Given the description of an element on the screen output the (x, y) to click on. 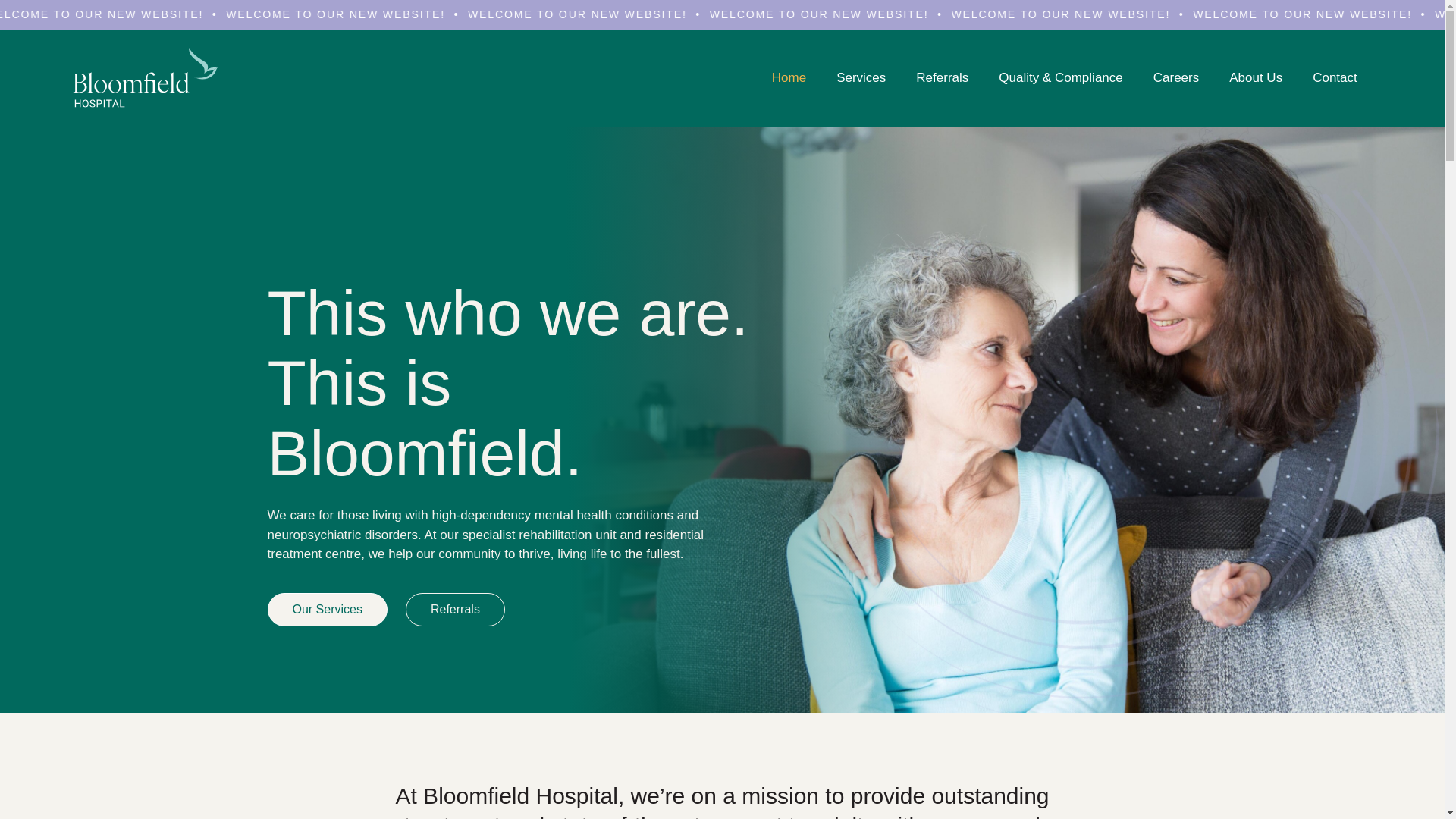
Home (789, 77)
Referrals (942, 77)
About Us (1255, 77)
Contact (1335, 77)
Services (861, 77)
Careers (1176, 77)
